Given the description of an element on the screen output the (x, y) to click on. 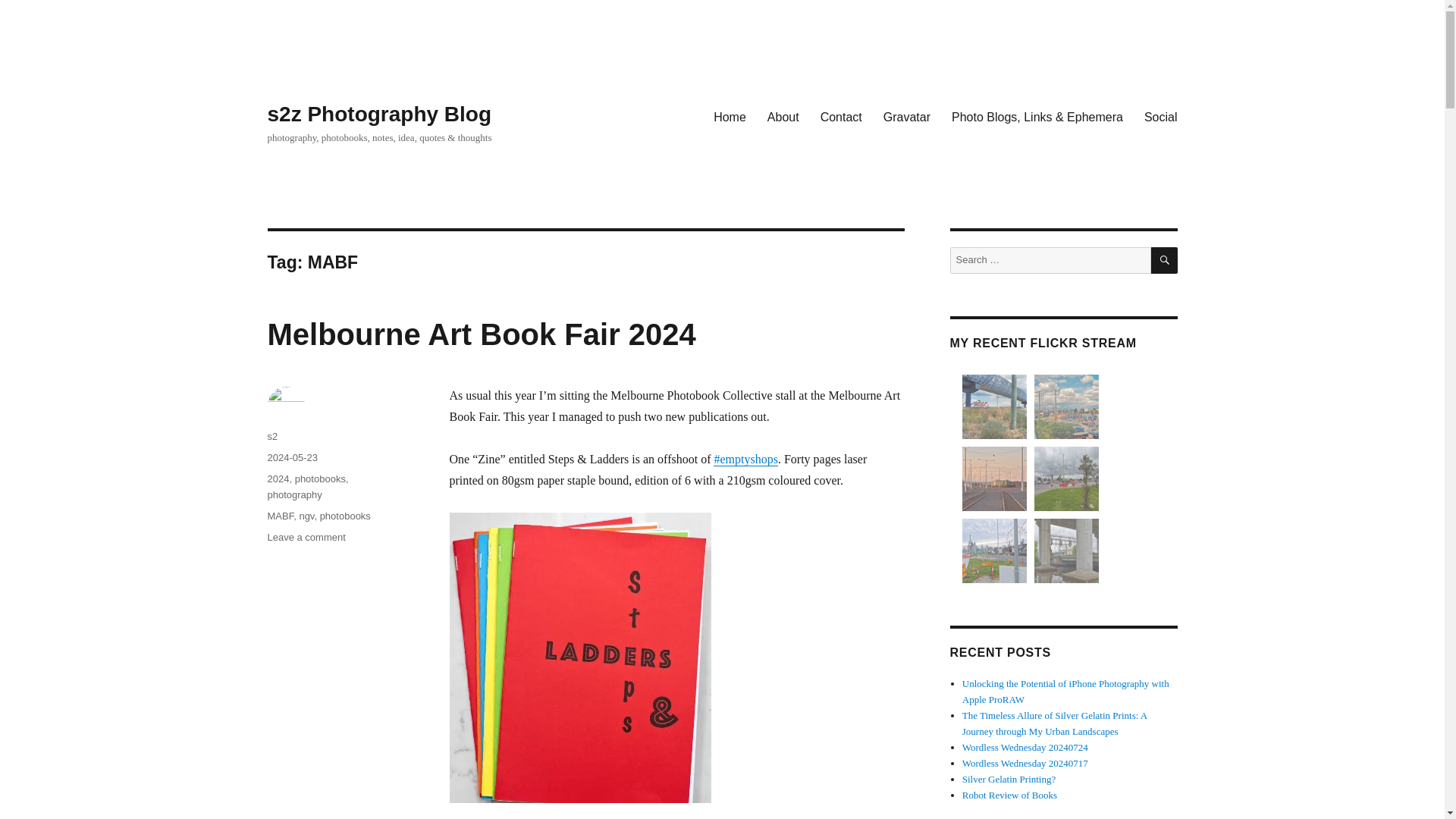
photobooks (320, 478)
About (783, 116)
Laverton, Melbourne, Victoria, Australia. 2022 (994, 406)
Contact (840, 116)
photography (293, 494)
Home (730, 116)
ngv (306, 515)
Gravatar (906, 116)
photobooks (345, 515)
